Given the description of an element on the screen output the (x, y) to click on. 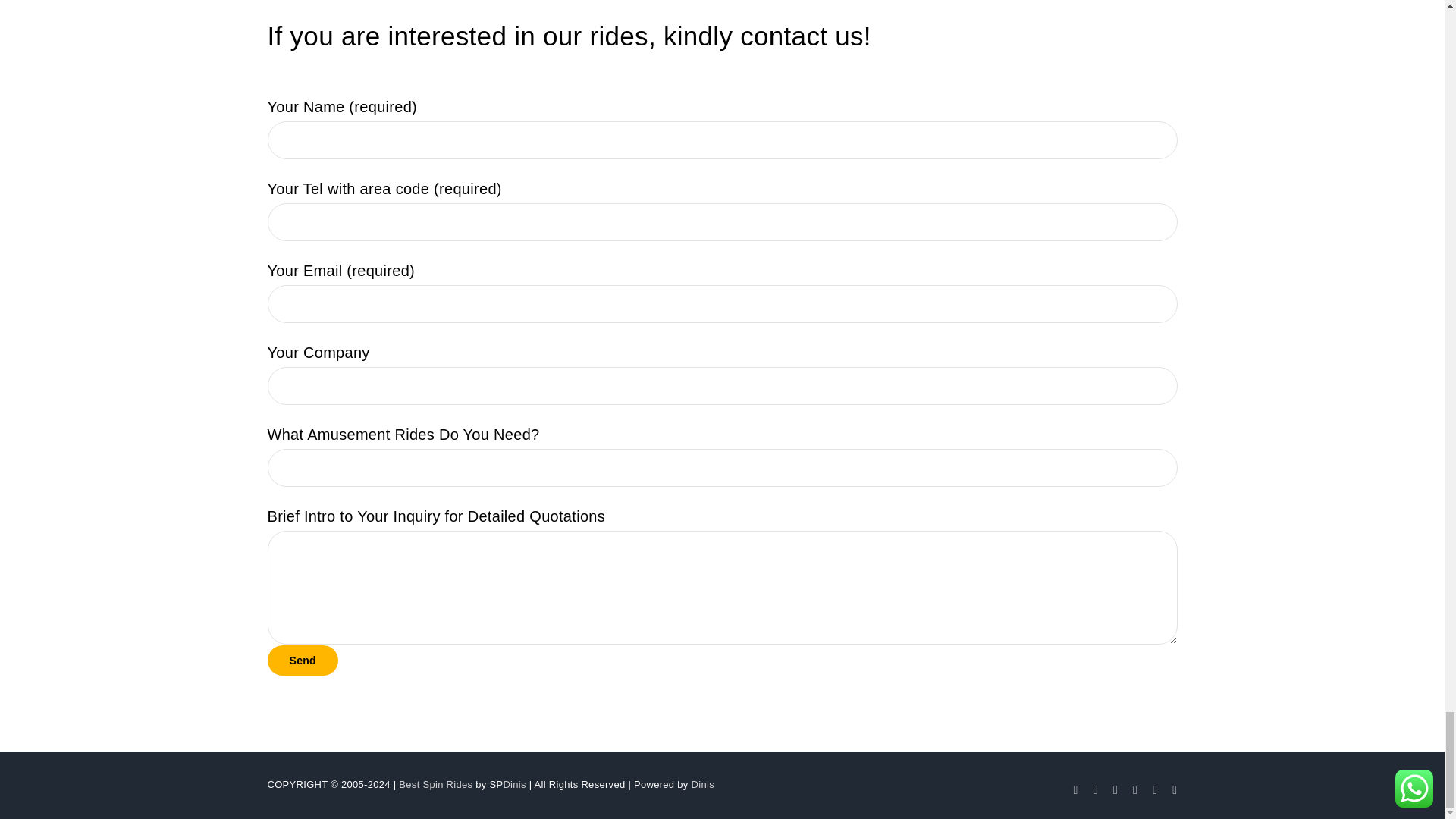
Send (301, 660)
